Given the description of an element on the screen output the (x, y) to click on. 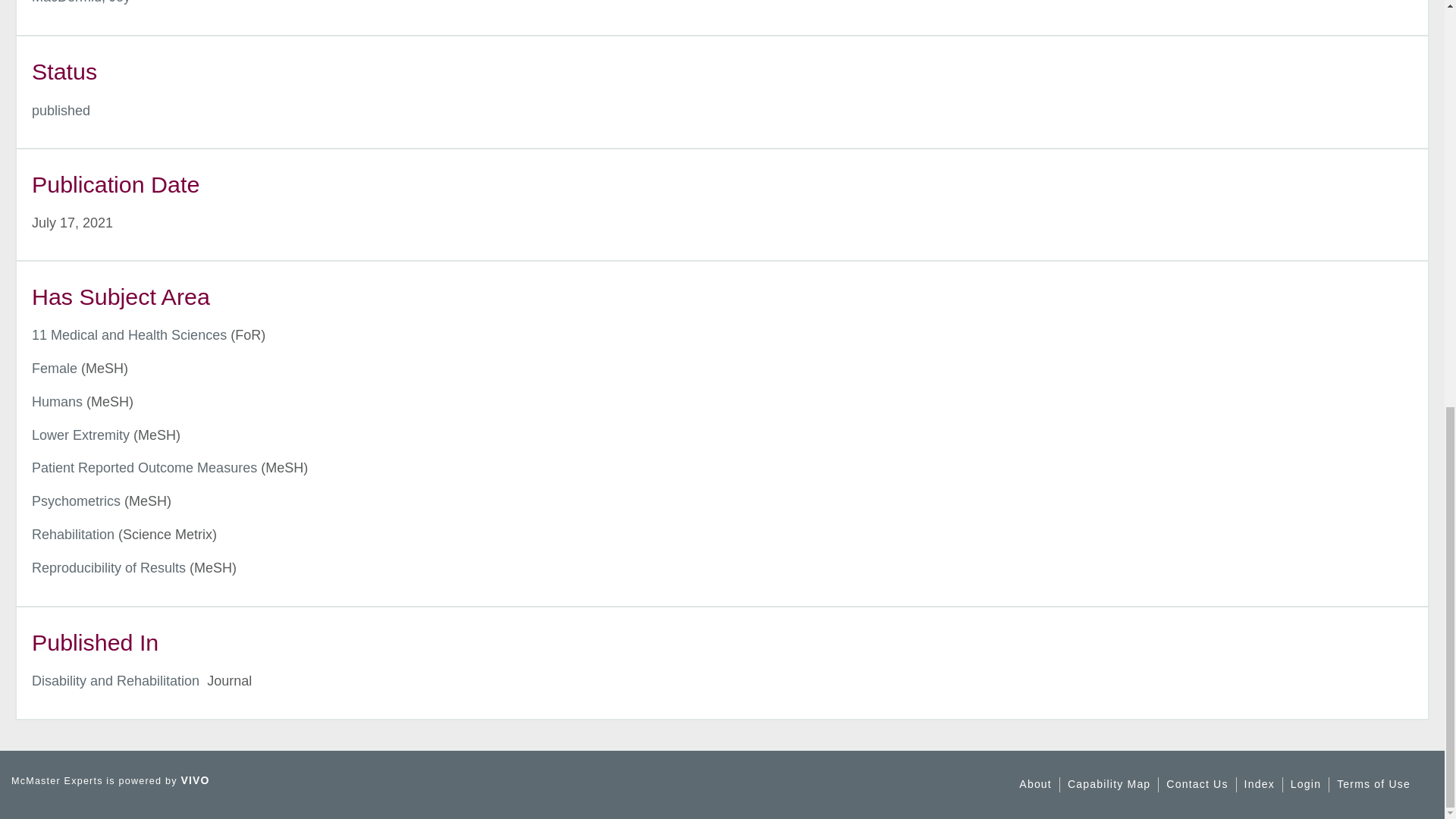
About (1035, 784)
11 Medical and Health Sciences (129, 335)
concept name (144, 467)
Patient Reported Outcome Measures (144, 467)
Female (54, 368)
Capability Map (1108, 784)
Login (1305, 784)
Contact Us (1196, 784)
Humans (57, 401)
author name (81, 2)
